Given the description of an element on the screen output the (x, y) to click on. 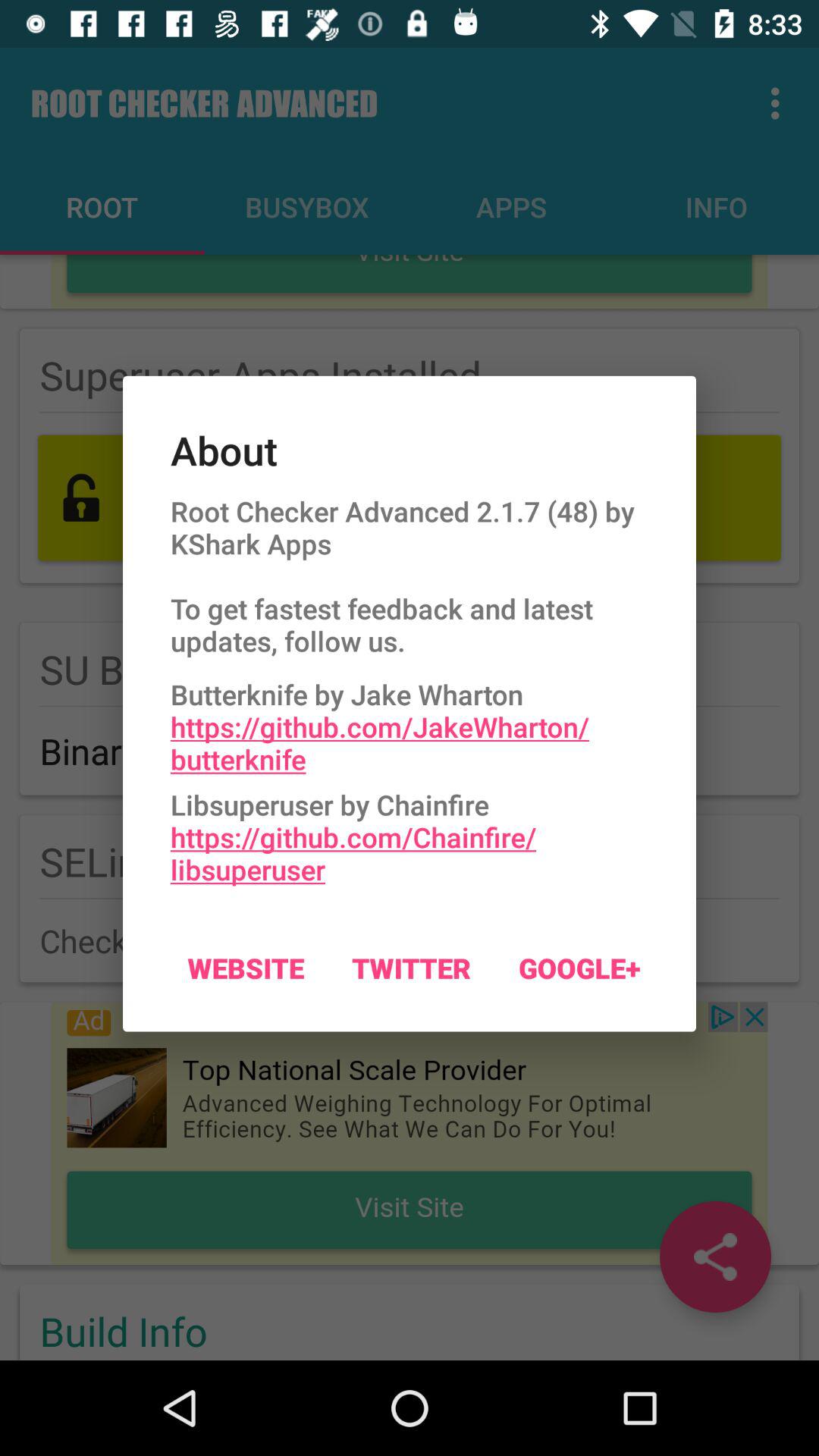
open butterknife by jake (409, 722)
